Given the description of an element on the screen output the (x, y) to click on. 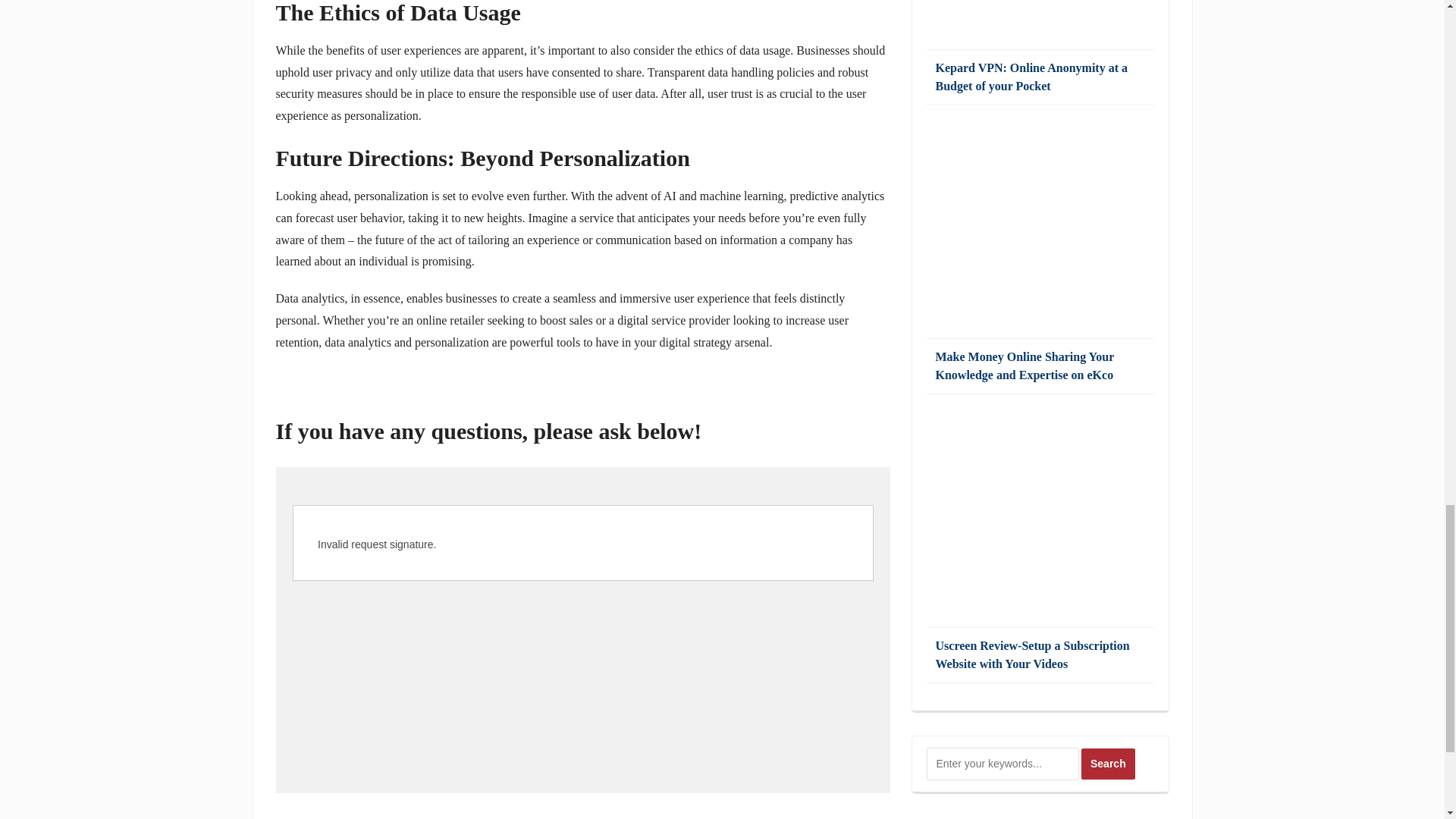
Search (1108, 763)
Search (1108, 763)
